Given the description of an element on the screen output the (x, y) to click on. 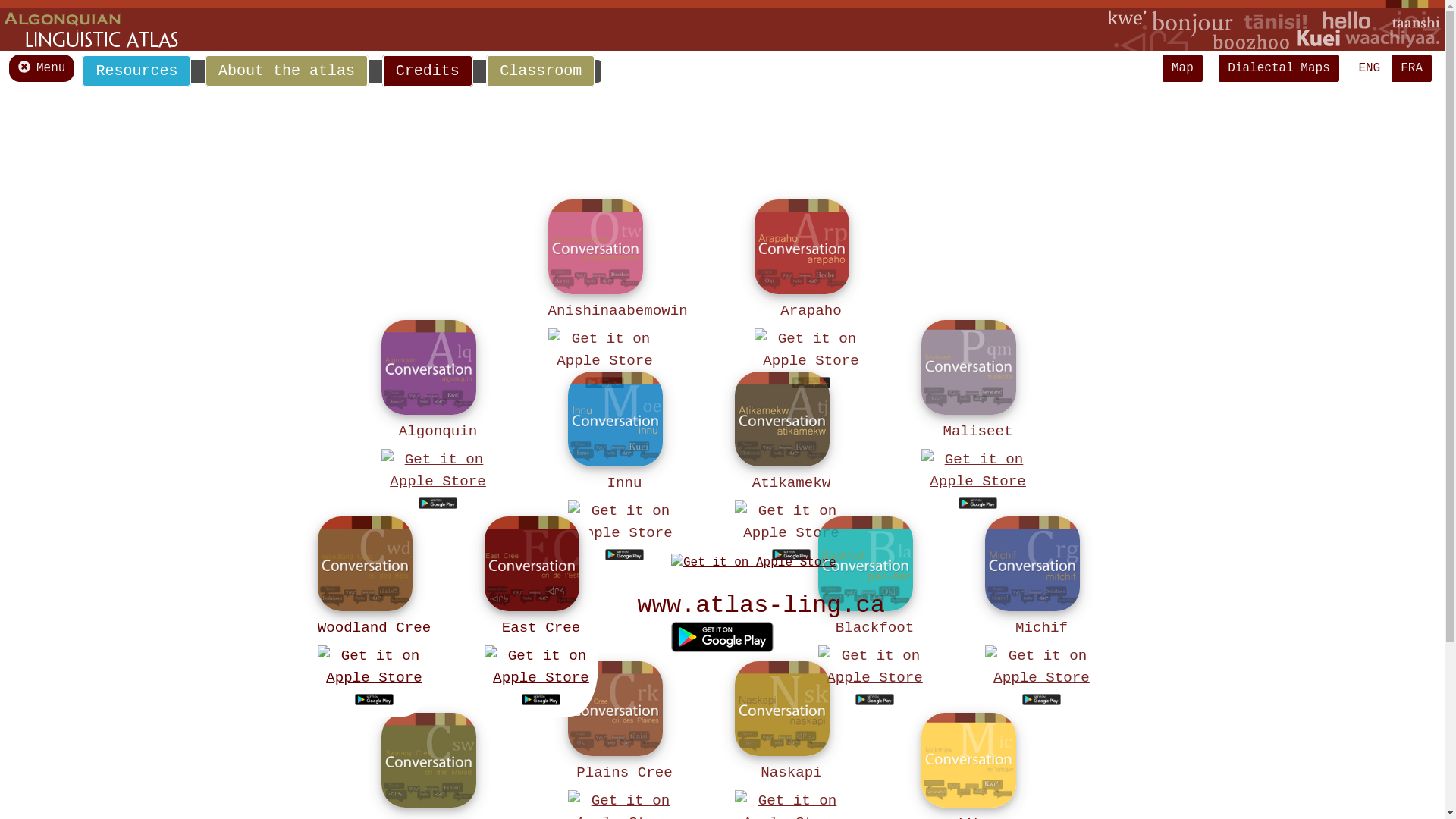
Classroom Element type: text (540, 70)
About the atlas Element type: text (286, 70)
Dialectal Maps Element type: text (1278, 68)
Menu Element type: text (41, 68)
Credits Element type: text (427, 70)
Map Element type: text (1182, 68)
Resources Element type: text (136, 70)
FRA Element type: text (1411, 68)
ENG Element type: text (1368, 68)
www.atlas-ling.ca Element type: text (760, 605)
